Given the description of an element on the screen output the (x, y) to click on. 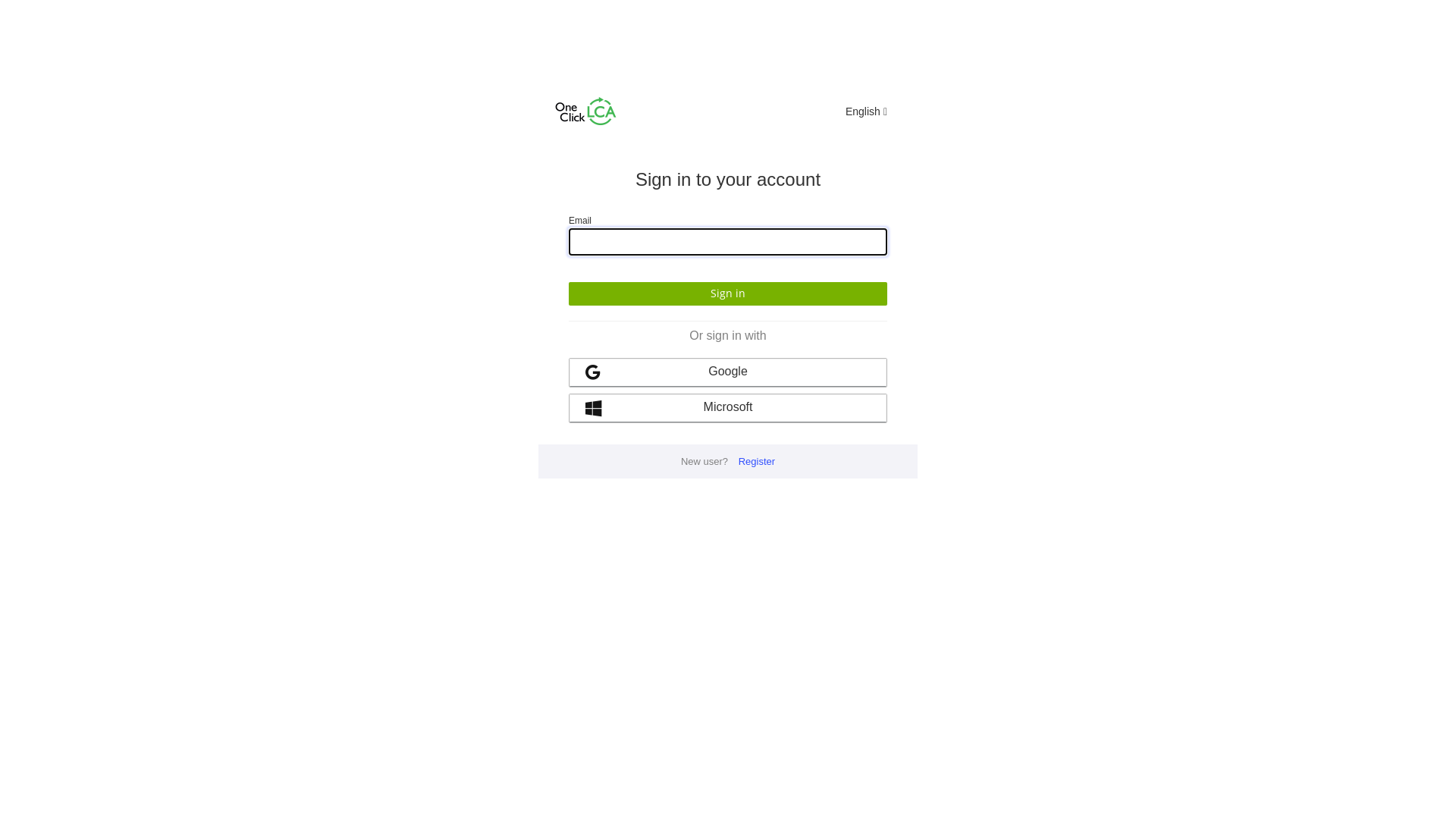
Google Element type: text (727, 372)
Register Element type: text (756, 461)
Sign in Element type: text (727, 293)
English Element type: text (866, 111)
Microsoft Element type: text (727, 408)
